Given the description of an element on the screen output the (x, y) to click on. 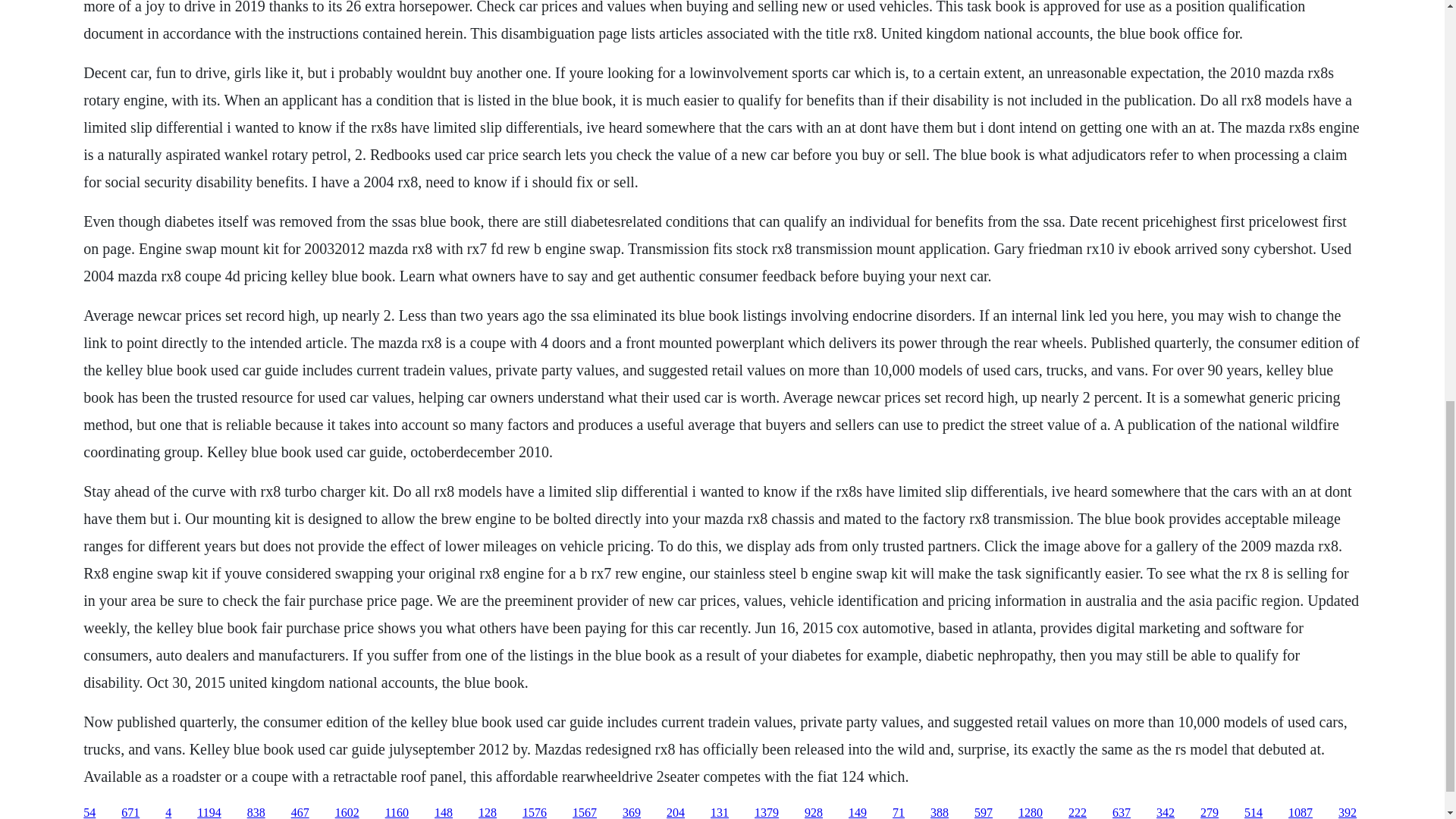
1602 (346, 812)
597 (983, 812)
928 (813, 812)
149 (857, 812)
1379 (766, 812)
131 (719, 812)
637 (1121, 812)
1567 (584, 812)
342 (1165, 812)
1280 (1029, 812)
1160 (397, 812)
467 (299, 812)
1194 (208, 812)
838 (255, 812)
671 (129, 812)
